Given the description of an element on the screen output the (x, y) to click on. 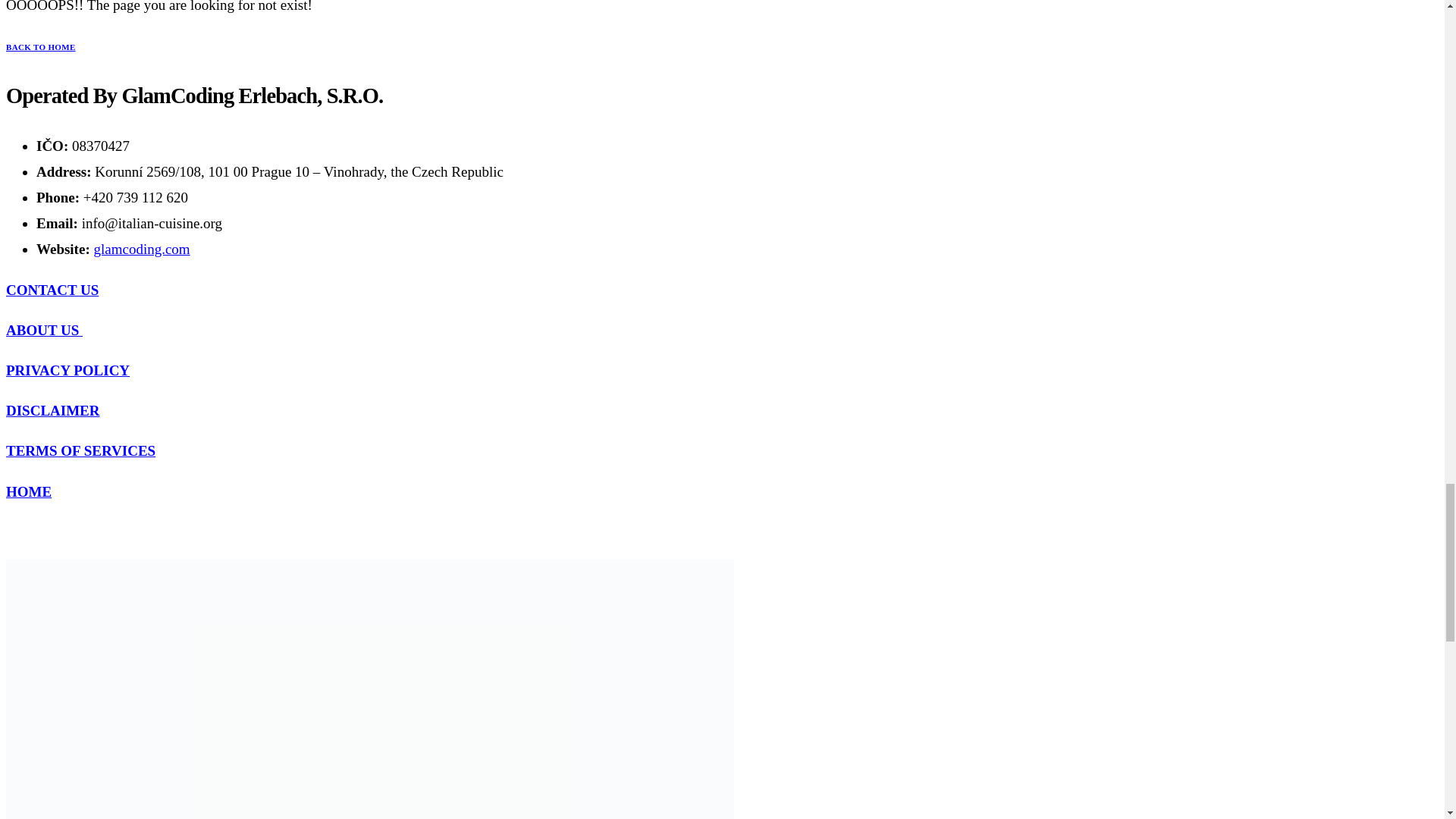
glamcoding.com (141, 248)
CONTACT US (52, 289)
PRIVACY POLICY (67, 370)
TERMS OF SERVICES (80, 450)
DISCLAIMER (52, 410)
ABOUT US  (43, 330)
HOME (27, 491)
